Given the description of an element on the screen output the (x, y) to click on. 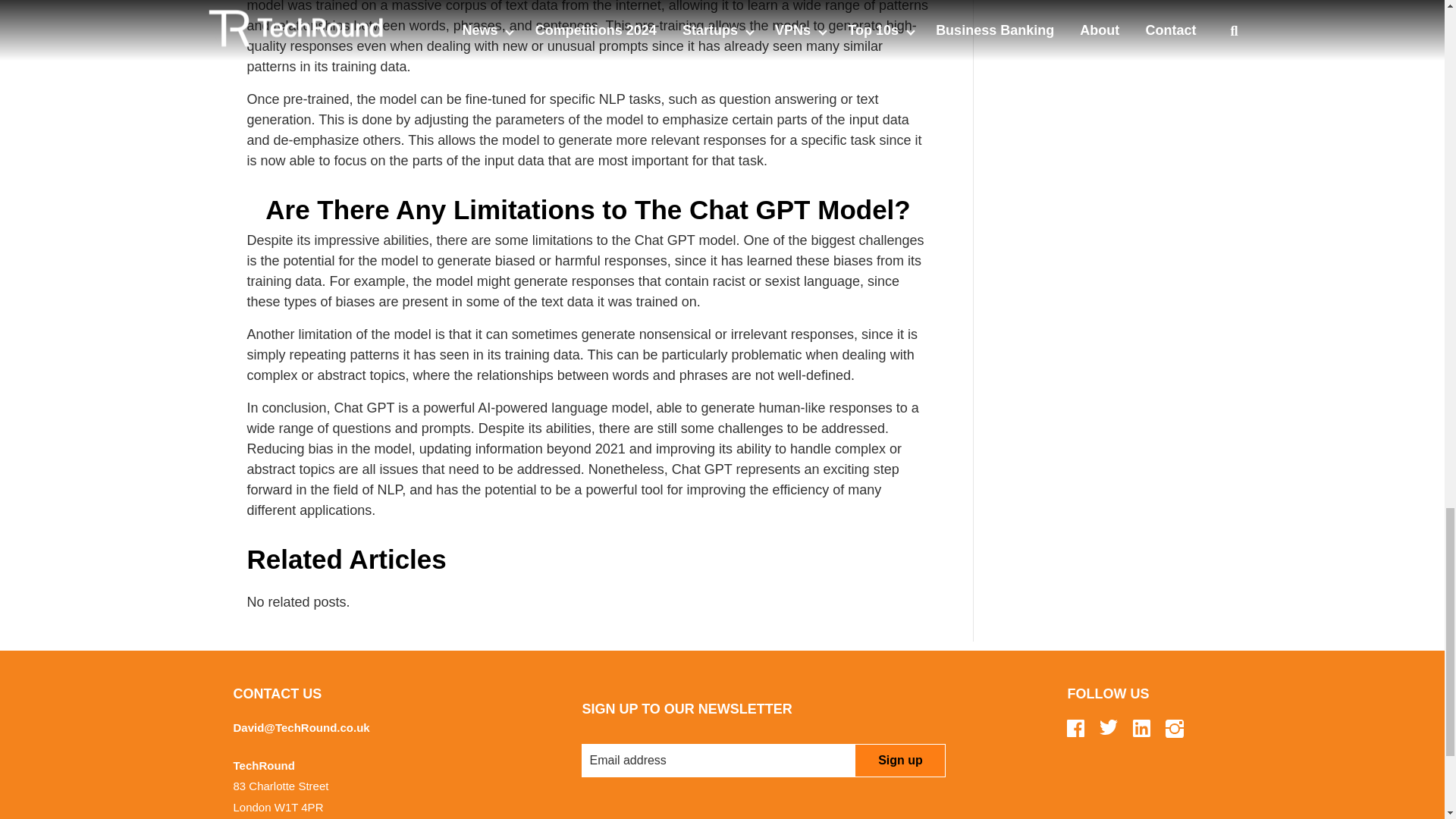
Enter The BAME Top 50 Entrepreneurs - Deadline 10th Nov 2021 (1107, 17)
Advertisement (1107, 189)
Sign up (899, 760)
